Given the description of an element on the screen output the (x, y) to click on. 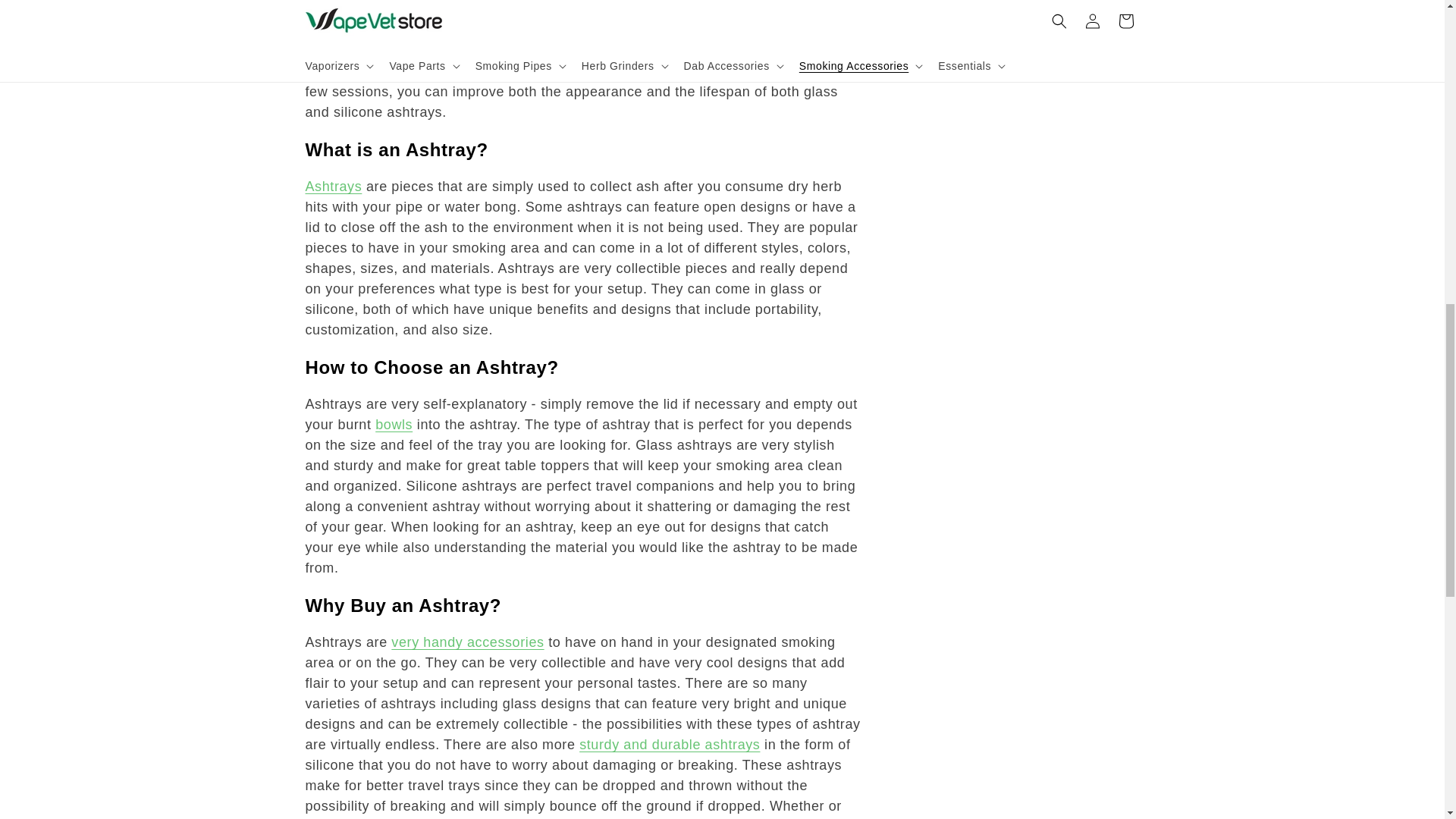
Silicone Ashtrays for Sale (669, 744)
10 Smoking Accessories and Pipes You Need to Buy (467, 642)
WHAT IS AN ASHTRAY? EVERYTHING YOU NEED TO KNOW (332, 186)
What is a Glass Pipe? Info Article (393, 424)
